Given the description of an element on the screen output the (x, y) to click on. 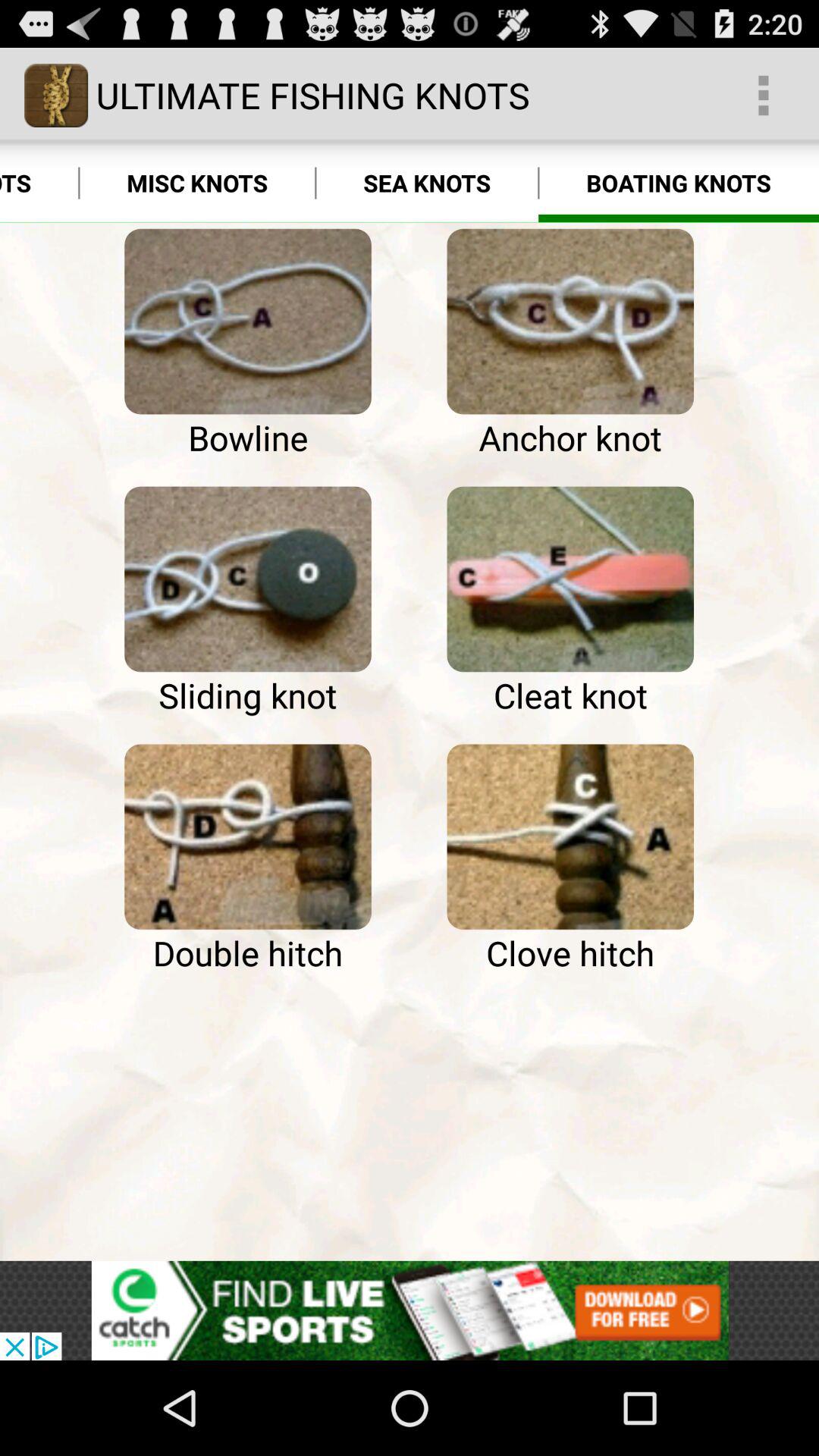
click the picture (570, 578)
